Given the description of an element on the screen output the (x, y) to click on. 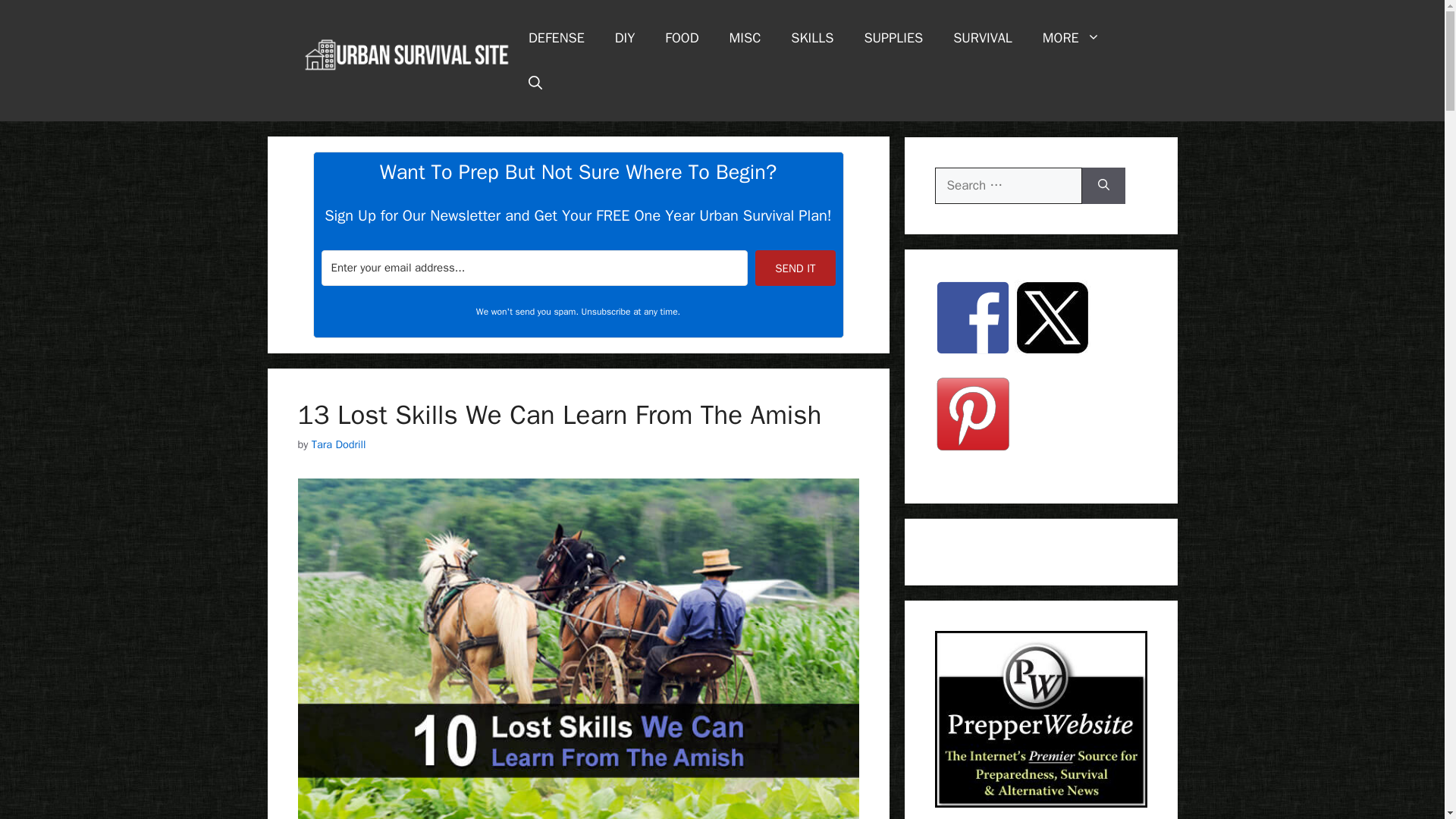
FOOD (681, 37)
MORE (1071, 37)
Tara Dodrill (338, 444)
Search for: (1007, 185)
SKILLS (812, 37)
MISC (745, 37)
13 Lost Skills We Can Learn From The Amish (559, 414)
DIY (624, 37)
SURVIVAL (982, 37)
View all posts by Tara Dodrill (338, 444)
DEFENSE (556, 37)
SUPPLIES (892, 37)
SEND IT (794, 267)
